Given the description of an element on the screen output the (x, y) to click on. 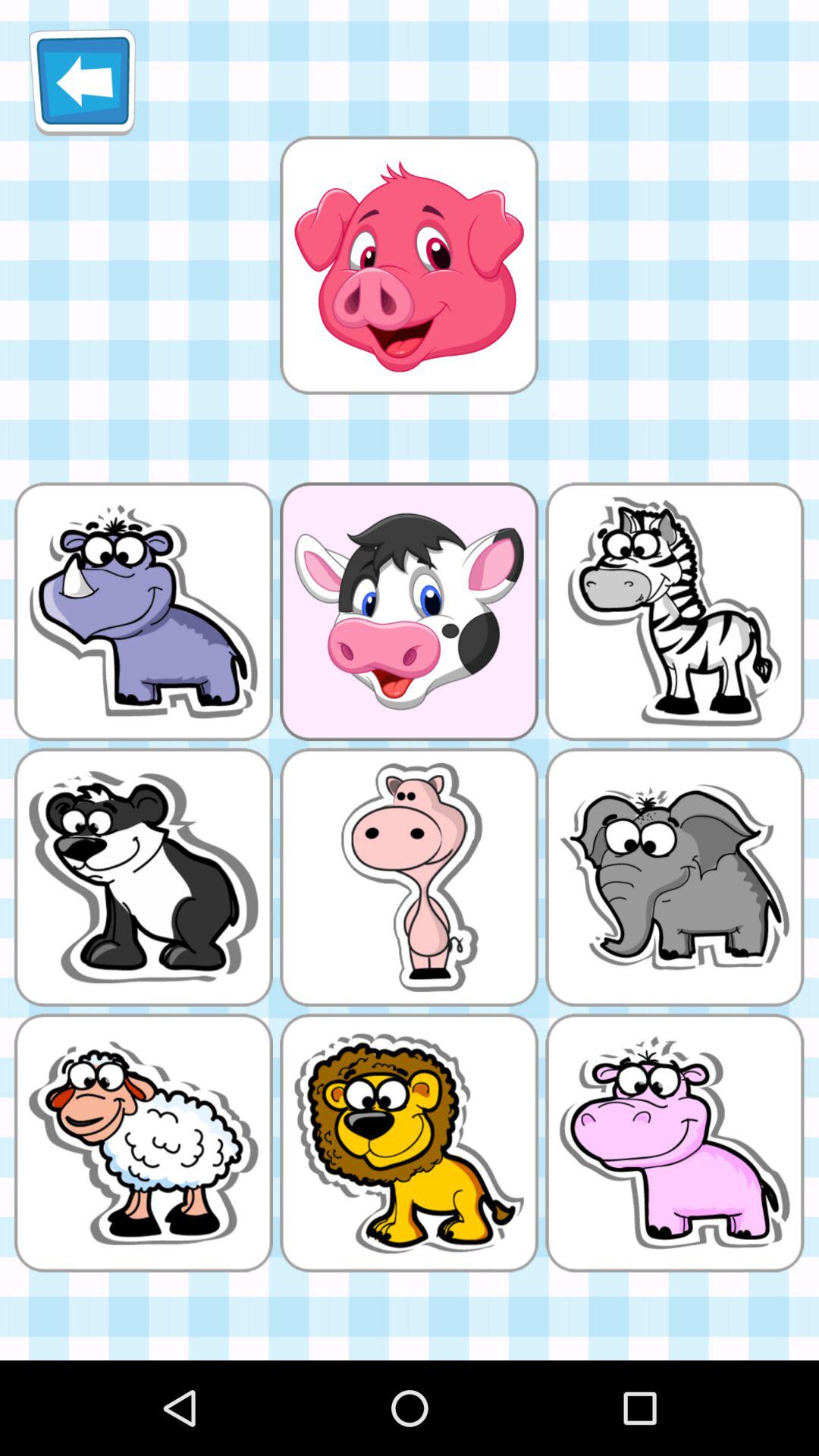
select or expand on the selected image (409, 264)
